Given the description of an element on the screen output the (x, y) to click on. 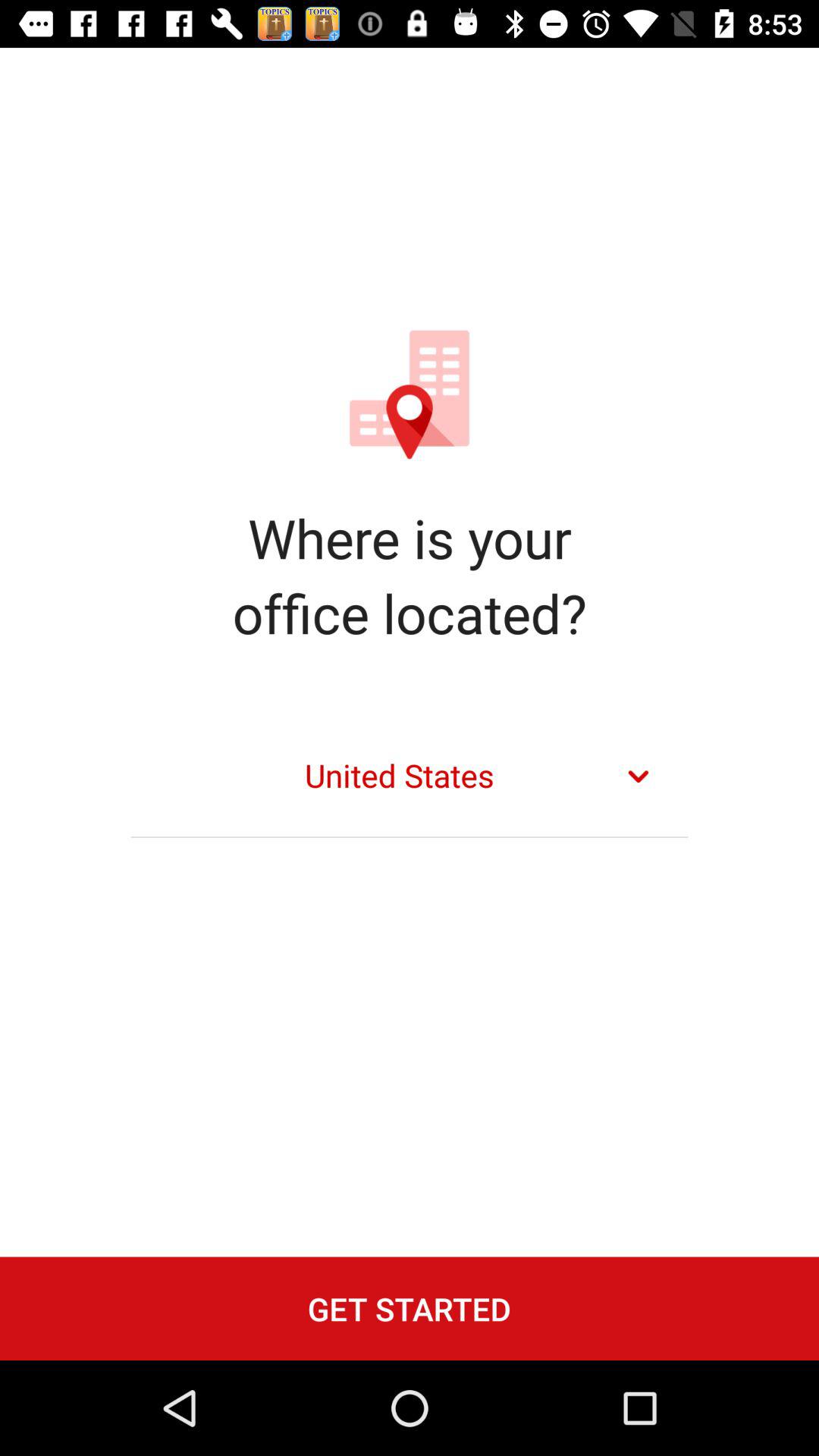
select the item below the where is your icon (409, 776)
